Given the description of an element on the screen output the (x, y) to click on. 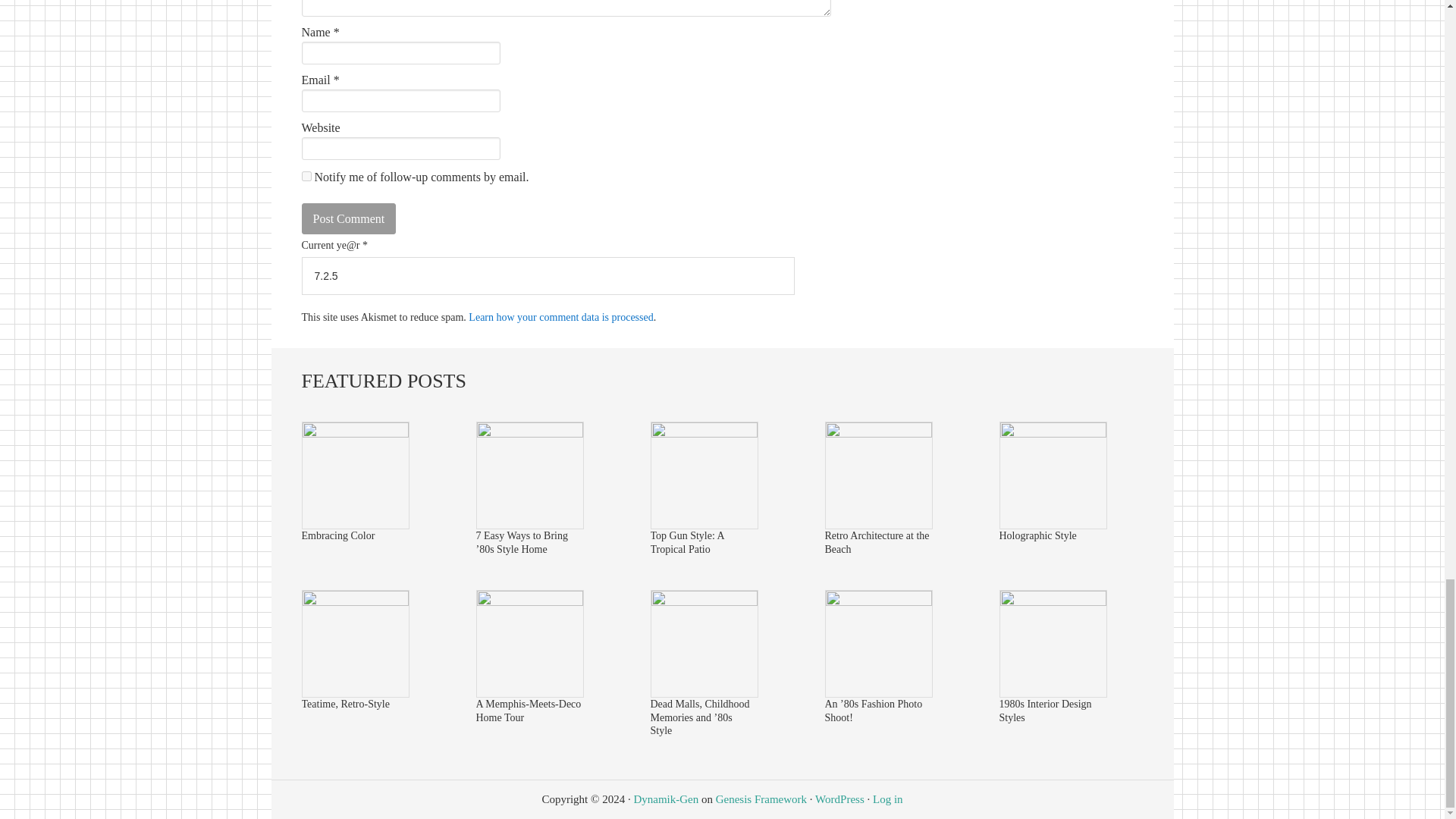
Top Gun Style: A Tropical Patio (704, 432)
Embracing Color (338, 535)
subscribe (306, 175)
Post Comment (348, 218)
Learn how your comment data is processed (560, 317)
Retro Architecture at the Beach (879, 432)
Post Comment (348, 218)
7.2.5 (547, 275)
Embracing Color (355, 432)
Top Gun Style: A Tropical Patio (686, 542)
